Given the description of an element on the screen output the (x, y) to click on. 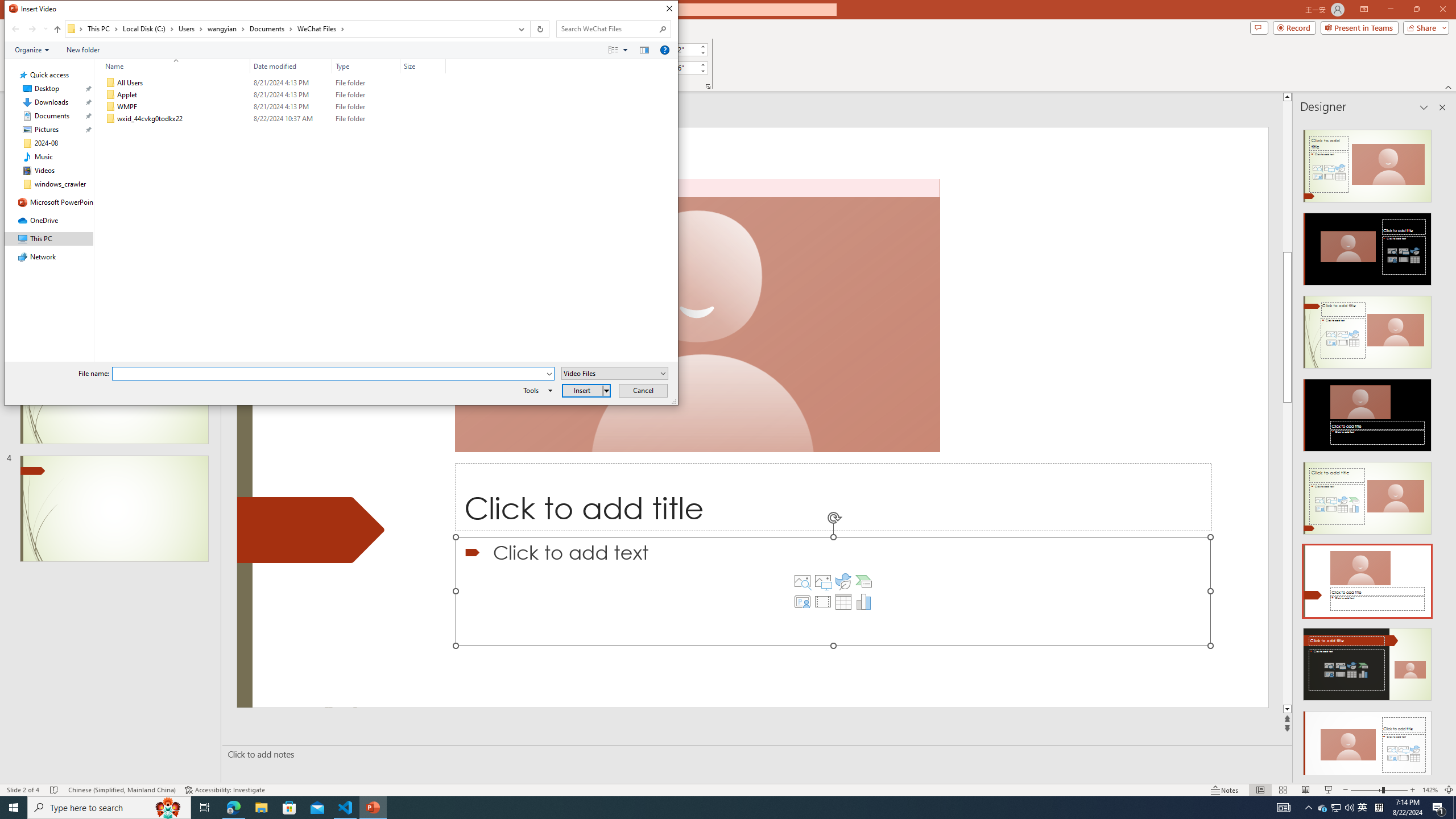
Class: UIImage (111, 119)
Insert an Icon (843, 581)
Search highlights icon opens search home window (167, 807)
Insert Table (843, 601)
Back (Alt + Left Arrow) (15, 28)
Forward (Alt + Right Arrow) (31, 28)
Decorative Locked (310, 530)
All Users (273, 82)
Content Placeholder (832, 591)
Address band toolbar (529, 28)
User Promoted Notification Area (1336, 807)
